Given the description of an element on the screen output the (x, y) to click on. 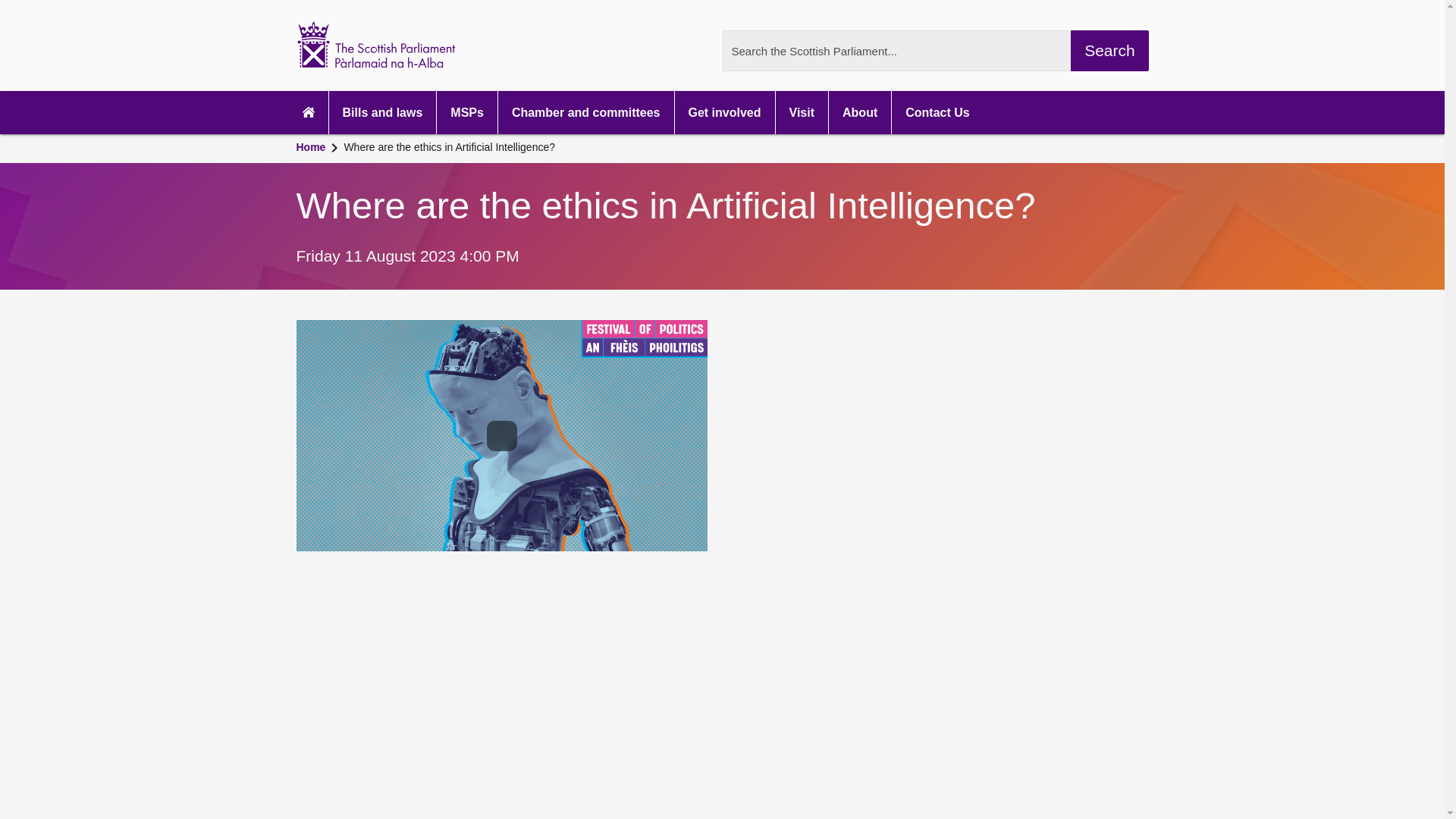
Chamber and committees (585, 112)
Scottish Parliament Website home (386, 45)
Search (1109, 50)
Contact Us (936, 112)
Bills and laws (382, 112)
Visit (802, 112)
Get involved (724, 112)
Home (309, 148)
MSPs (466, 112)
About (859, 112)
